Given the description of an element on the screen output the (x, y) to click on. 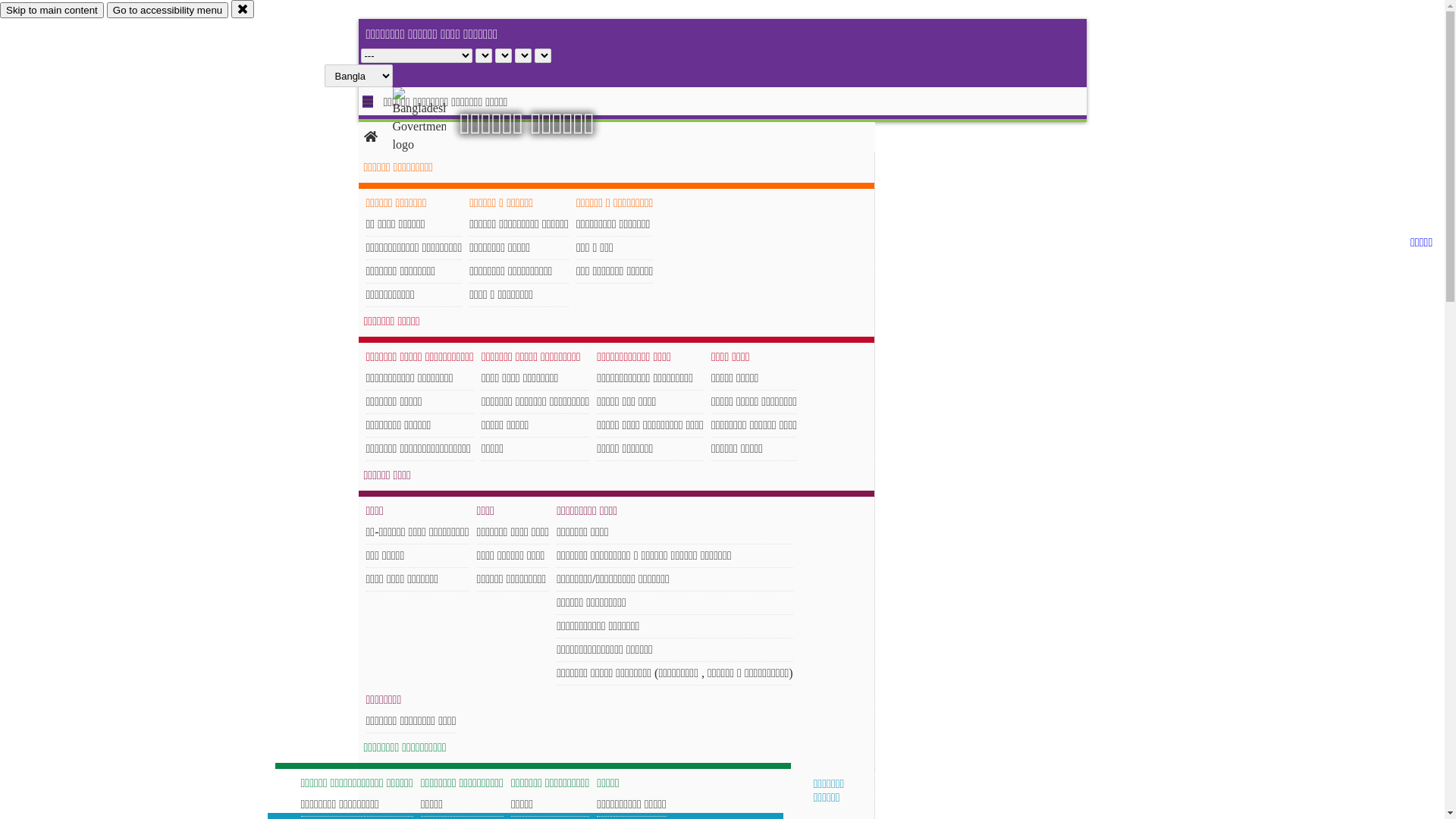
Skip to main content Element type: text (51, 10)
close Element type: hover (242, 9)

                
             Element type: hover (431, 120)
Go to accessibility menu Element type: text (167, 10)
